Given the description of an element on the screen output the (x, y) to click on. 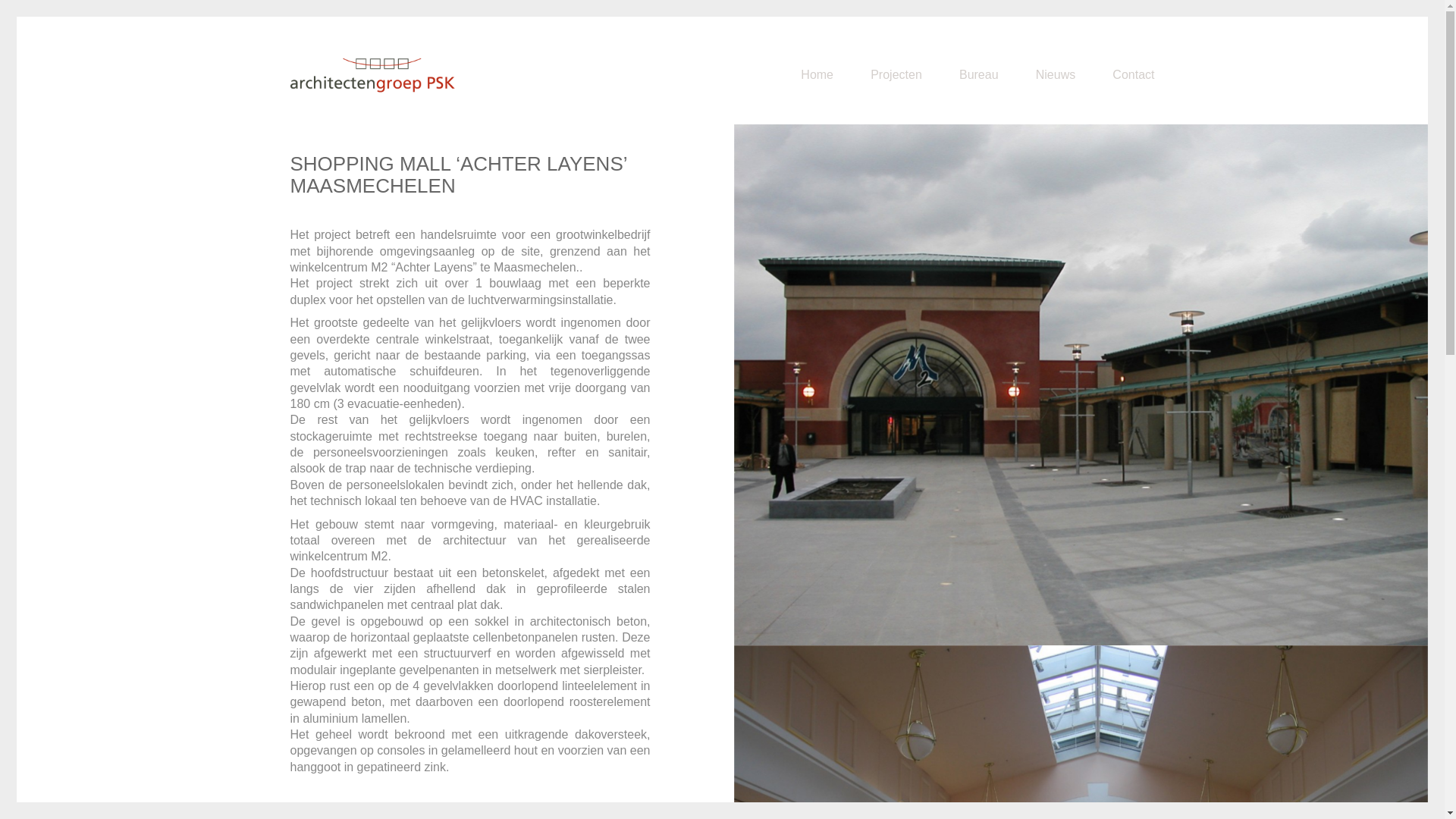
Home Element type: text (816, 74)
Projecten Element type: text (896, 74)
Bureau Element type: text (978, 74)
Nieuws Element type: text (1055, 74)
Contact Element type: text (1133, 74)
